Given the description of an element on the screen output the (x, y) to click on. 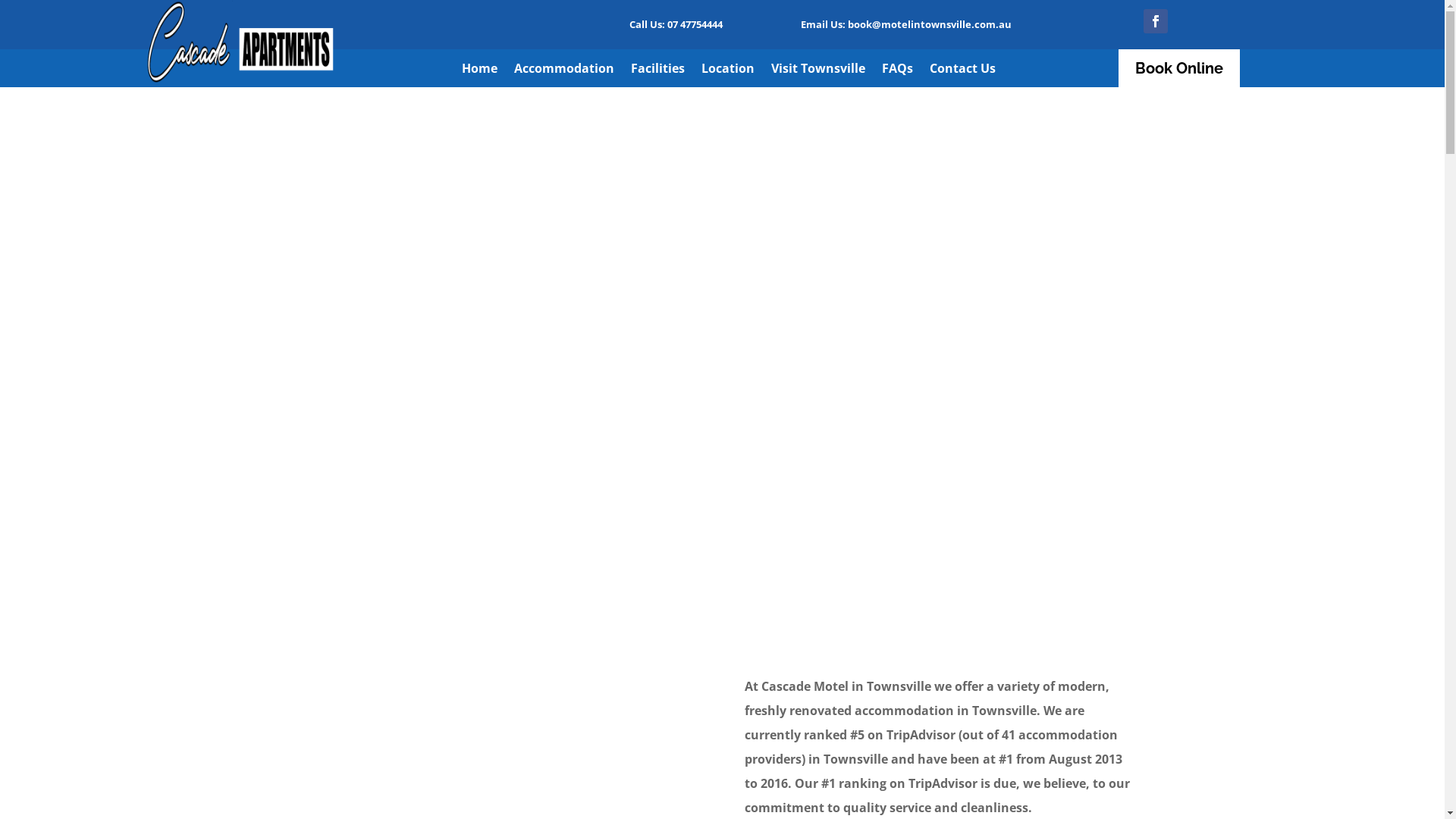
Accommodation Element type: text (564, 70)
Home Element type: text (479, 70)
FAQs Element type: text (897, 70)
Location Element type: text (727, 70)
Visit Townsville Element type: text (818, 70)
Contact Us Element type: text (962, 70)
Follow on Facebook Element type: hover (1155, 21)
Facilities Element type: text (657, 70)
Book Online Element type: text (1178, 68)
